Given the description of an element on the screen output the (x, y) to click on. 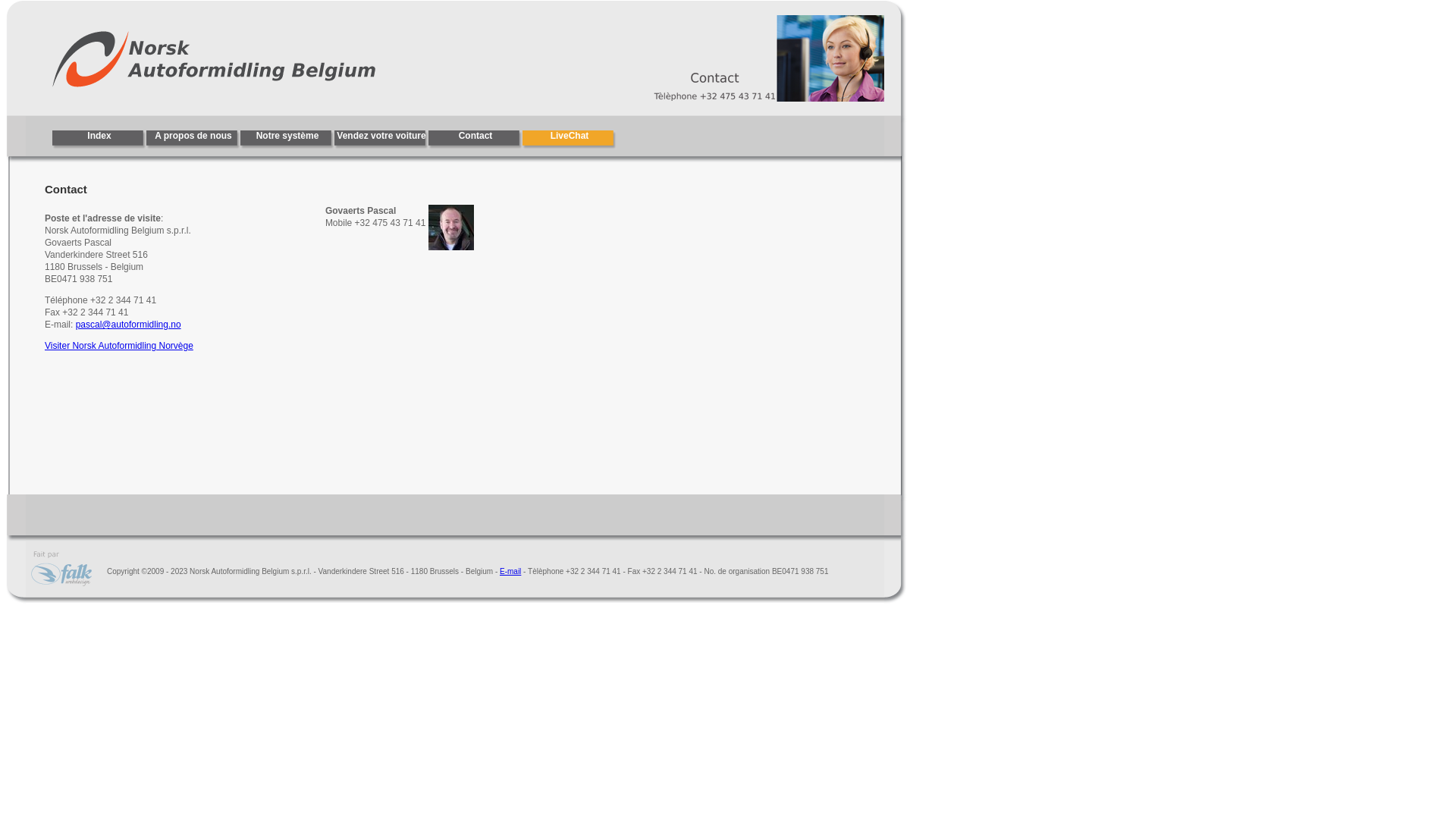
Index Element type: text (99, 139)
LiveChat Element type: text (569, 139)
E-mail Element type: text (509, 571)
Vendez votre voiture Element type: text (381, 139)
A propos de nous Element type: text (193, 139)
pascal@autoformidling.no Element type: text (128, 324)
Contact Element type: text (475, 139)
